Given the description of an element on the screen output the (x, y) to click on. 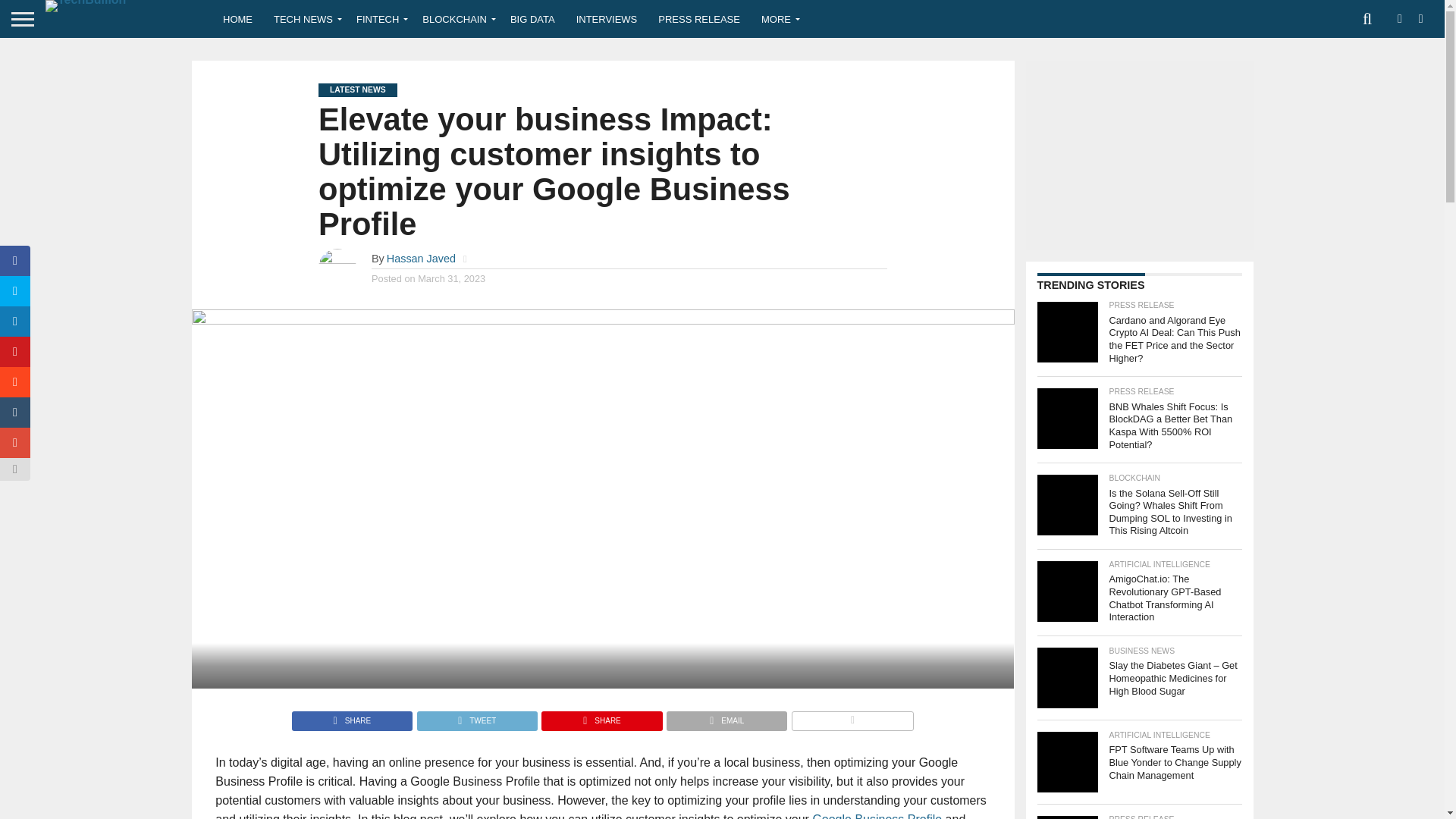
Tweet This Post (476, 716)
Share on Facebook (352, 716)
Pin This Post (601, 716)
Posts by Hassan Javed (421, 258)
